Given the description of an element on the screen output the (x, y) to click on. 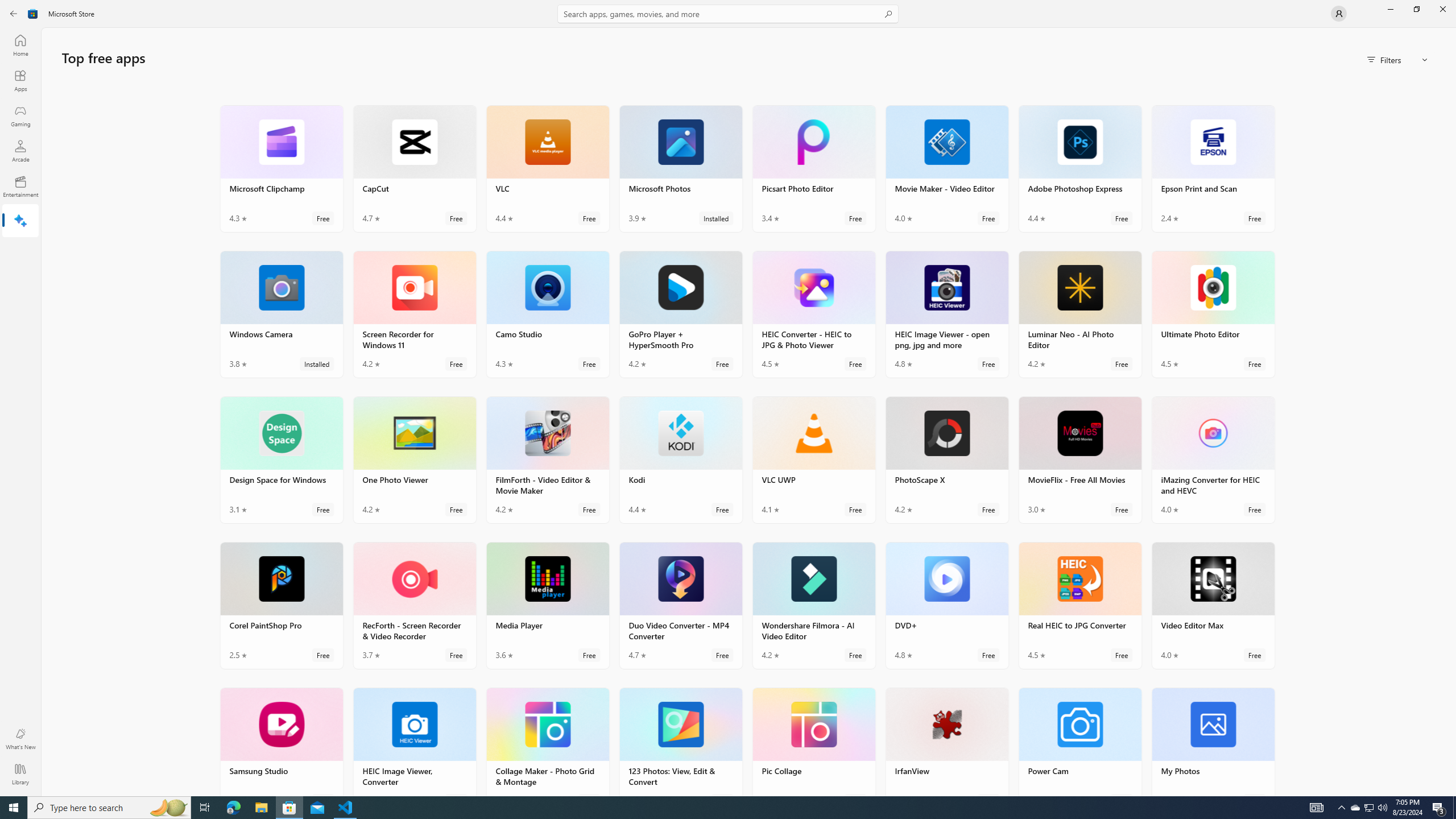
AutomationID: NavigationControl (728, 398)
Kodi. Average rating of 4.4 out of five stars. Free   (680, 459)
Back (13, 13)
